Given the description of an element on the screen output the (x, y) to click on. 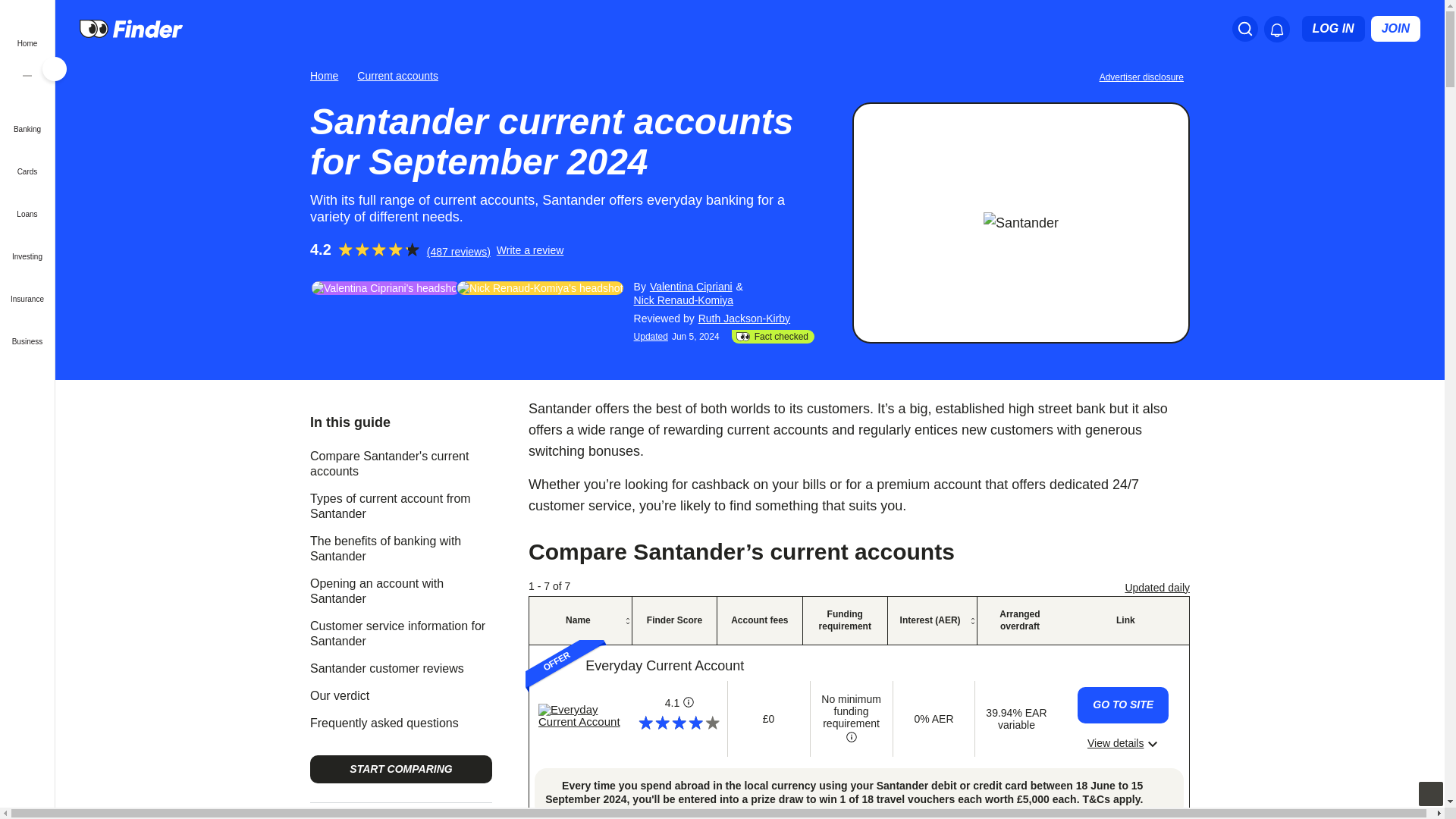
Read our review of this product (580, 715)
Important information about this website (1144, 76)
Read our review of this product (664, 665)
Read More About The Everyday Current Account (1123, 743)
Apply now for the Everyday Current Account (1123, 705)
Santander (1021, 222)
